Given the description of an element on the screen output the (x, y) to click on. 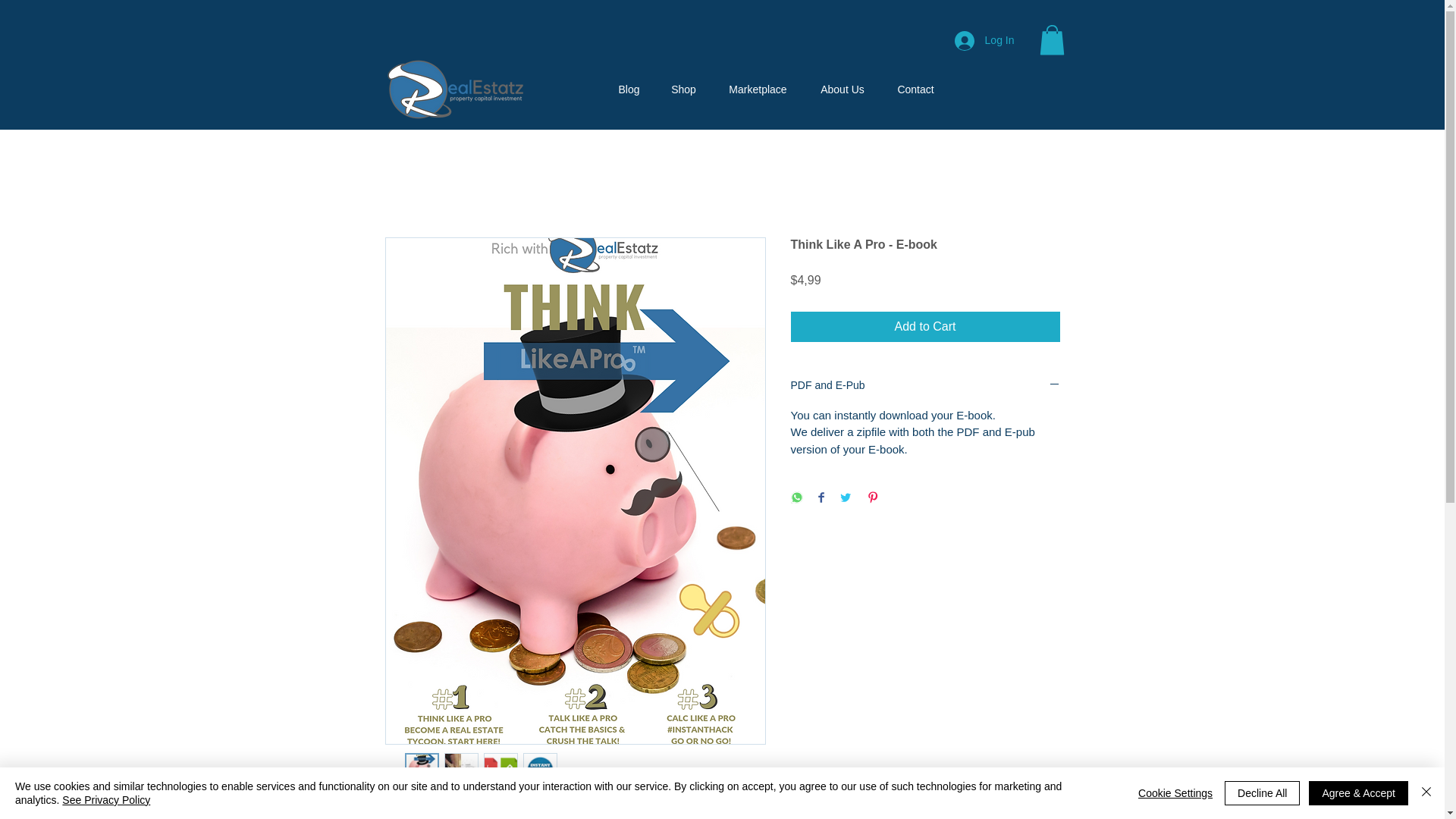
Add to Cart (924, 327)
Log In (984, 39)
PDF and E-Pub (924, 385)
Decline All (1262, 793)
About Us (841, 89)
Contact (915, 89)
Marketplace (757, 89)
Blog (628, 89)
Shop (683, 89)
See Privacy Policy (105, 799)
